Given the description of an element on the screen output the (x, y) to click on. 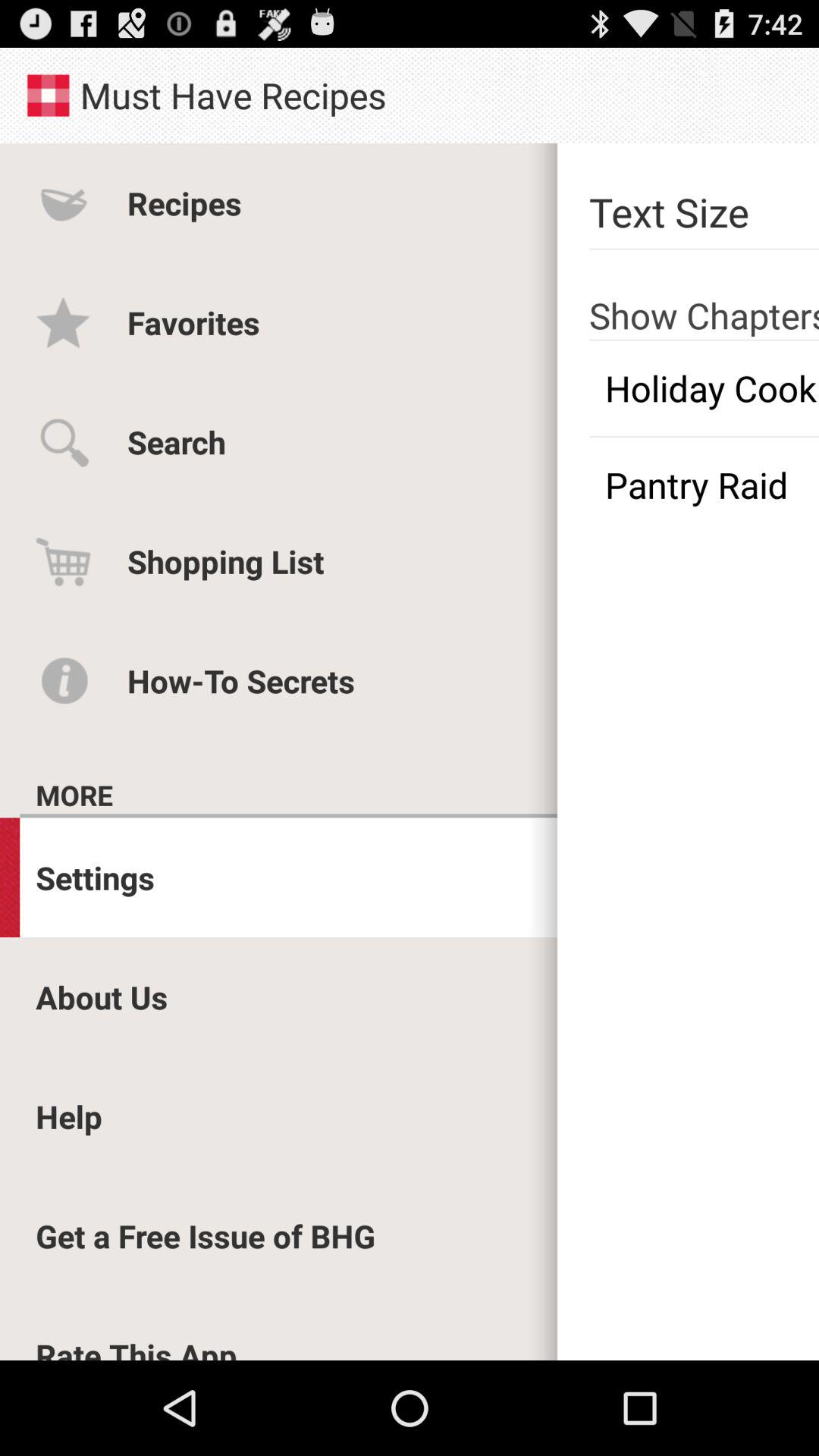
press app above the how-to secrets icon (225, 560)
